Given the description of an element on the screen output the (x, y) to click on. 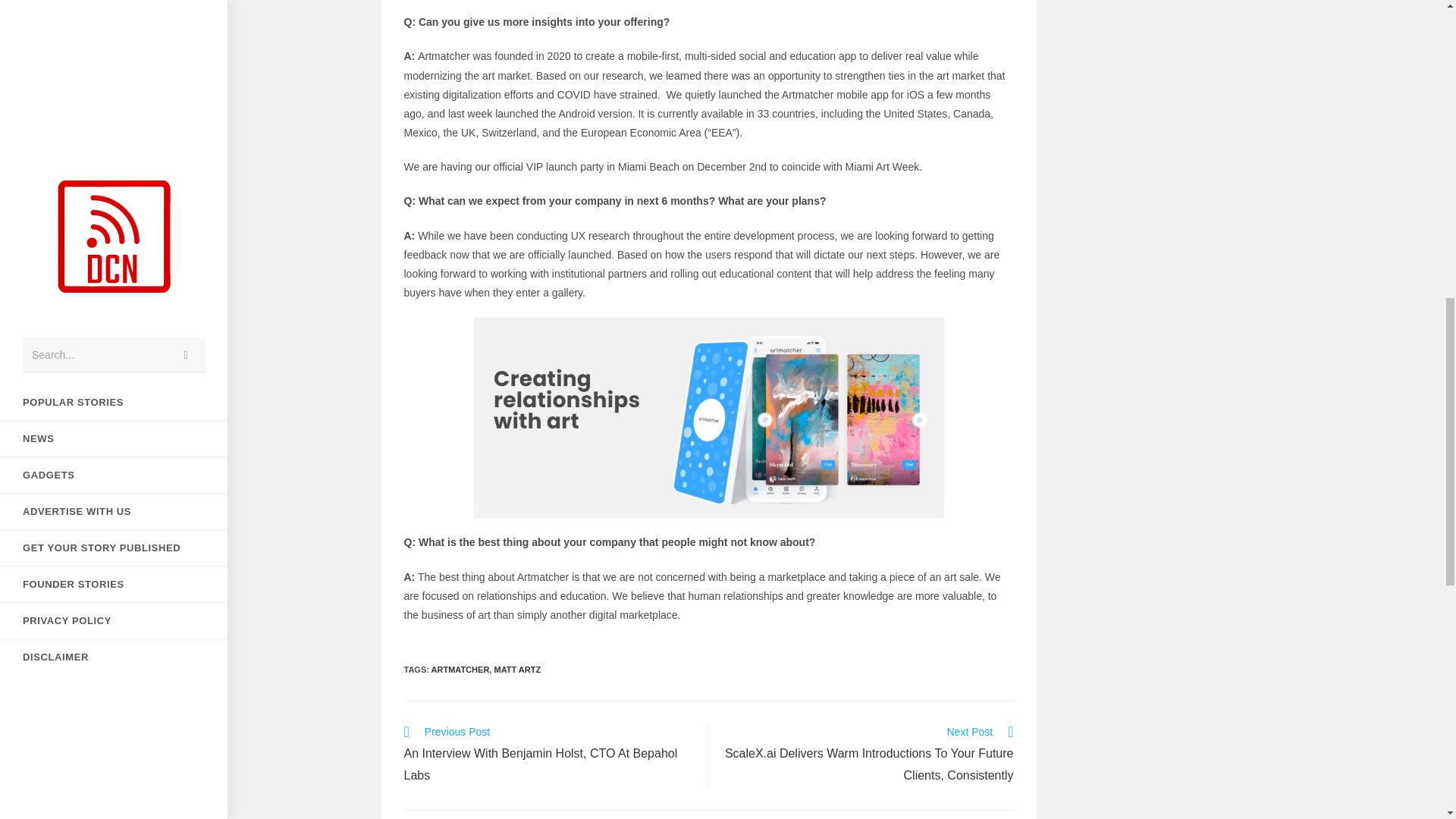
ARTMATCHER (459, 669)
MATT ARTZ (516, 669)
